Given the description of an element on the screen output the (x, y) to click on. 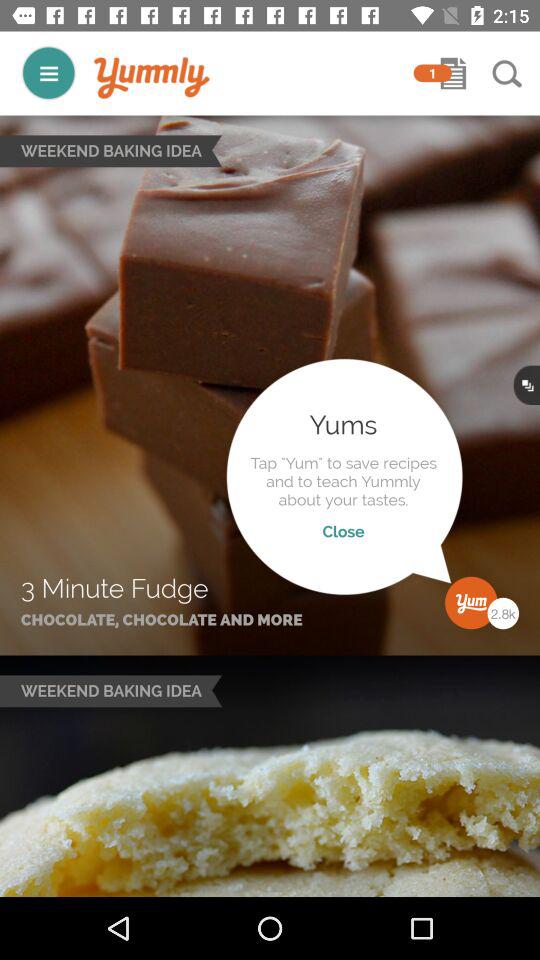
view messages (453, 73)
